Given the description of an element on the screen output the (x, y) to click on. 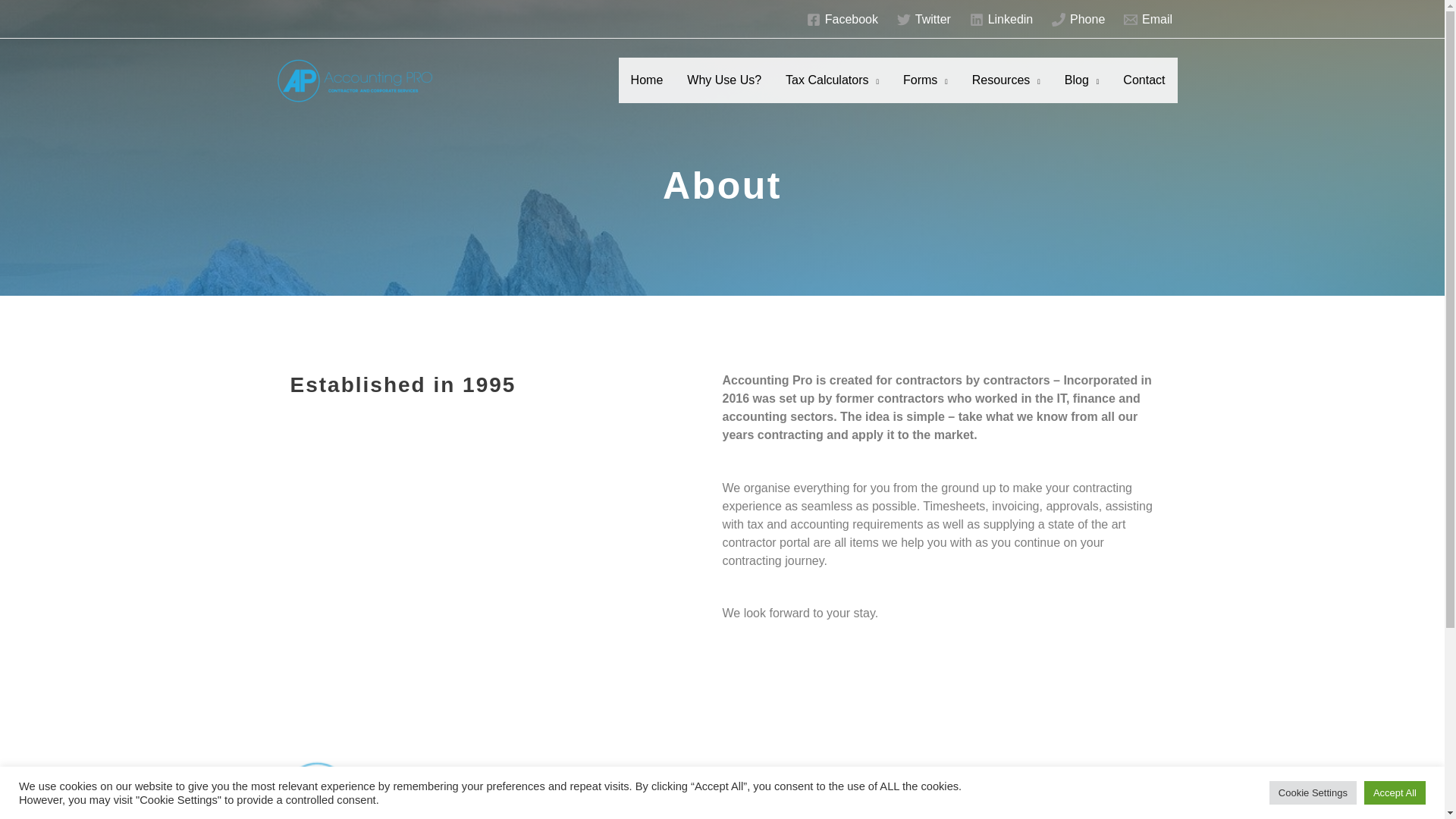
Linkedin (999, 19)
Why Use Us? (724, 80)
Twitter (923, 19)
Phone (1077, 19)
Email (1148, 19)
Home (646, 80)
Tax Calculators (832, 80)
Forms (925, 80)
Facebook (842, 19)
Resources (1005, 80)
Blog (1082, 80)
